Given the description of an element on the screen output the (x, y) to click on. 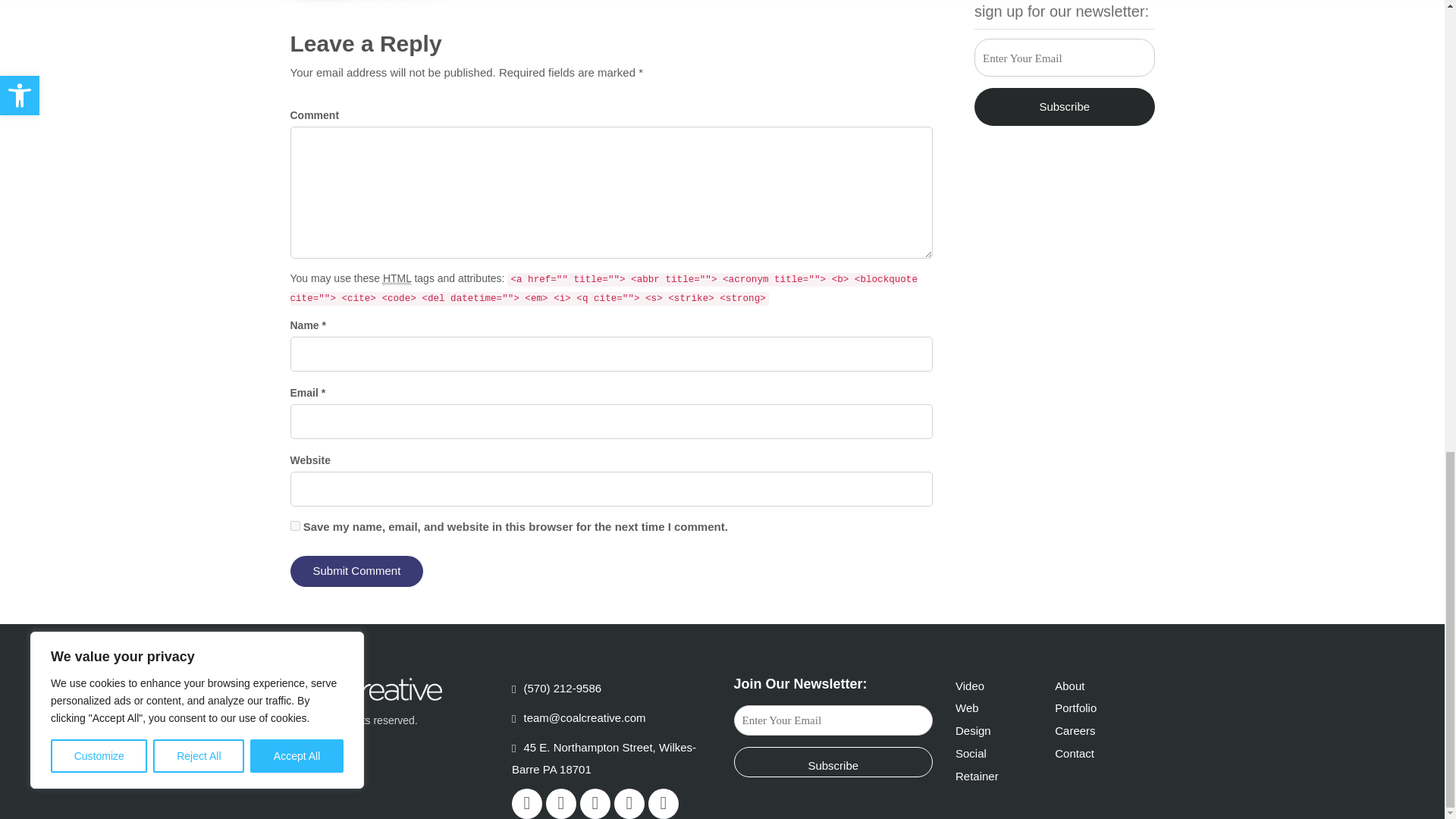
HyperText Markup Language (397, 278)
Subscribe (1064, 106)
yes (294, 525)
Subscribe (833, 761)
Submit Comment (356, 571)
